Given the description of an element on the screen output the (x, y) to click on. 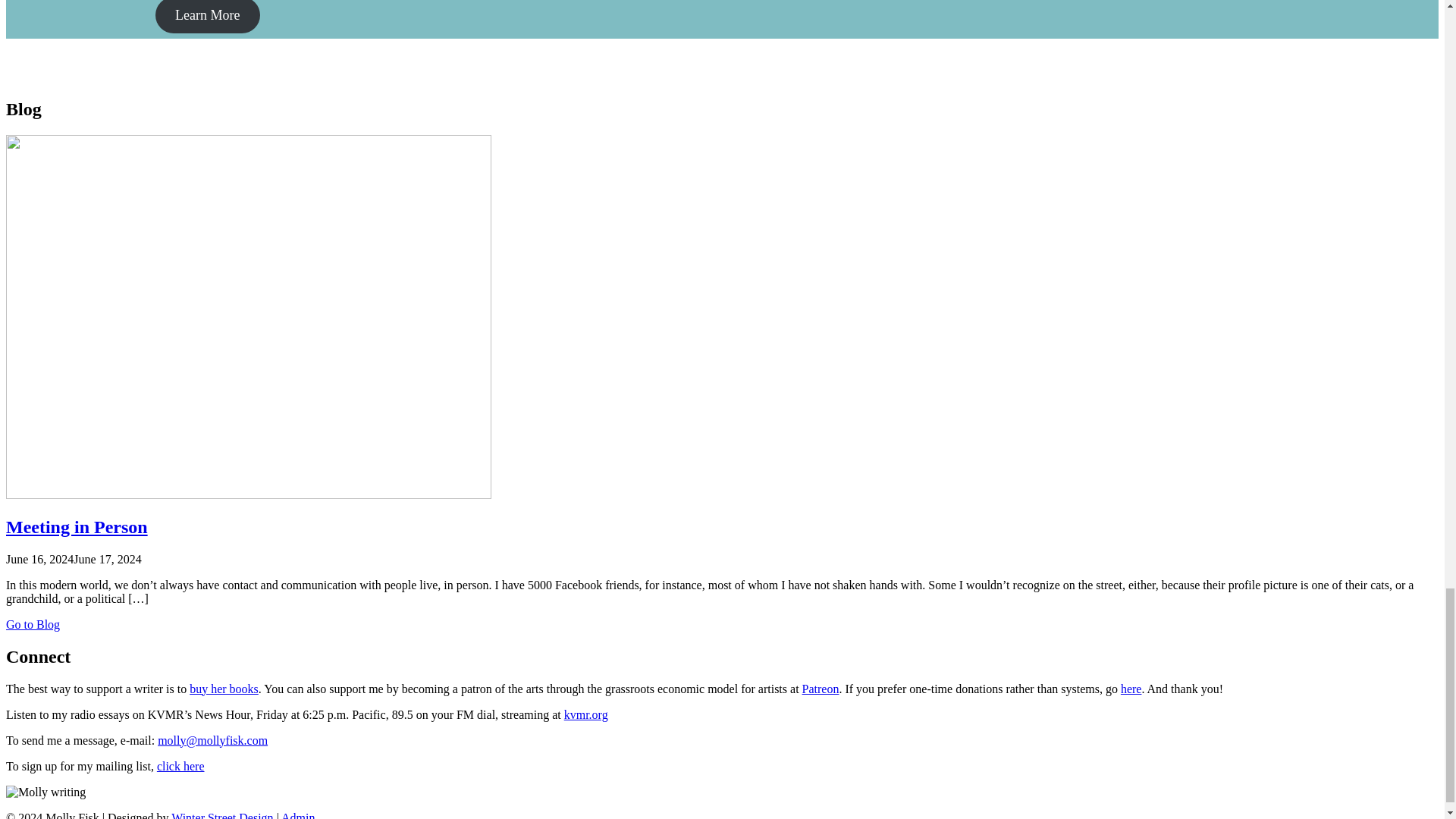
Go to Blog (32, 624)
Patreon (821, 688)
click here (181, 766)
here (1131, 688)
Meeting in Person (76, 526)
buy her books (224, 688)
Learn More (207, 16)
kvmr.org (586, 714)
